Given the description of an element on the screen output the (x, y) to click on. 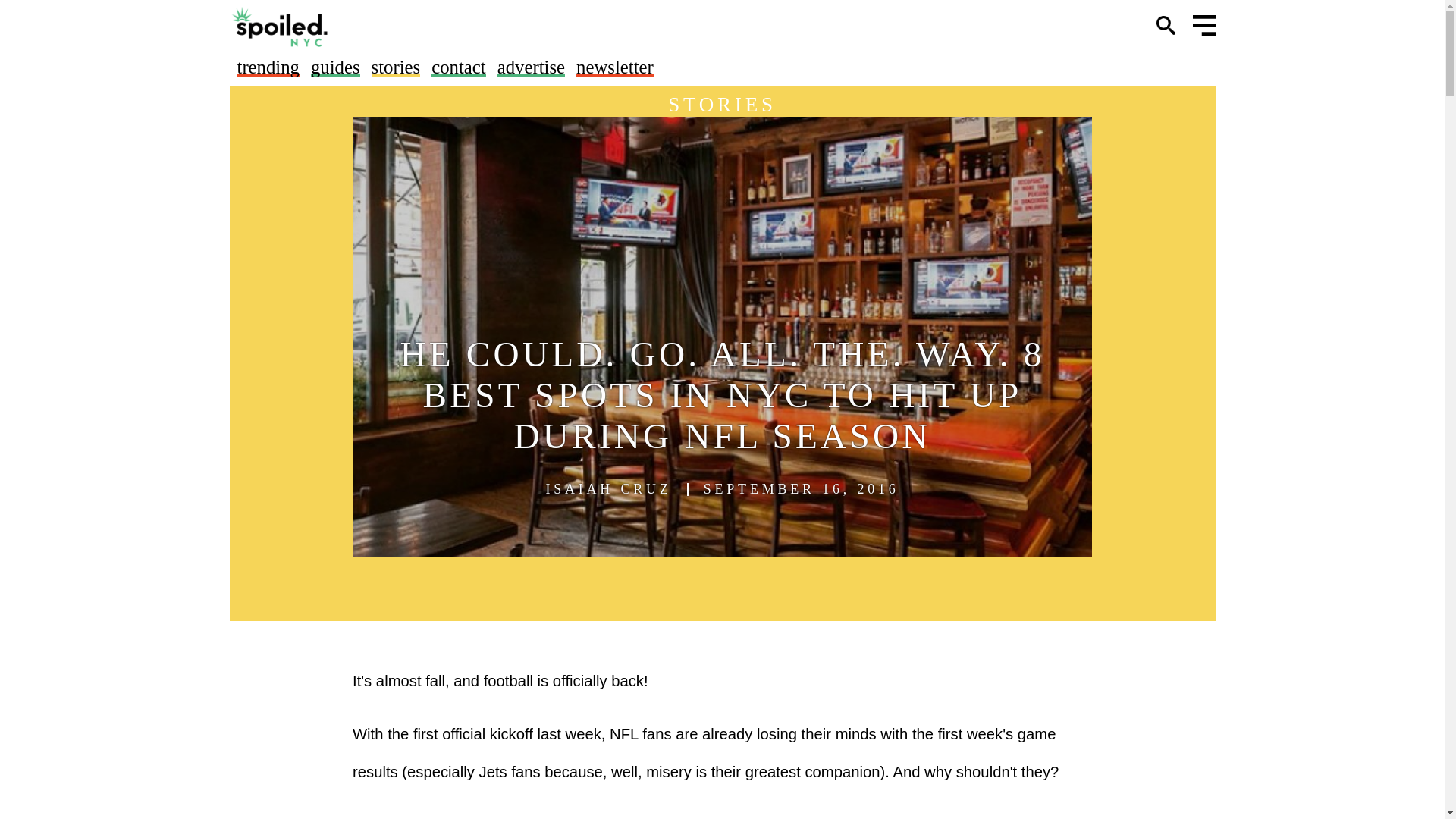
contact (457, 66)
guides (335, 66)
STORIES (722, 104)
ISAIAH CRUZ (607, 489)
advertise (530, 66)
trending (266, 66)
newsletter (614, 66)
stories (395, 66)
